Given the description of an element on the screen output the (x, y) to click on. 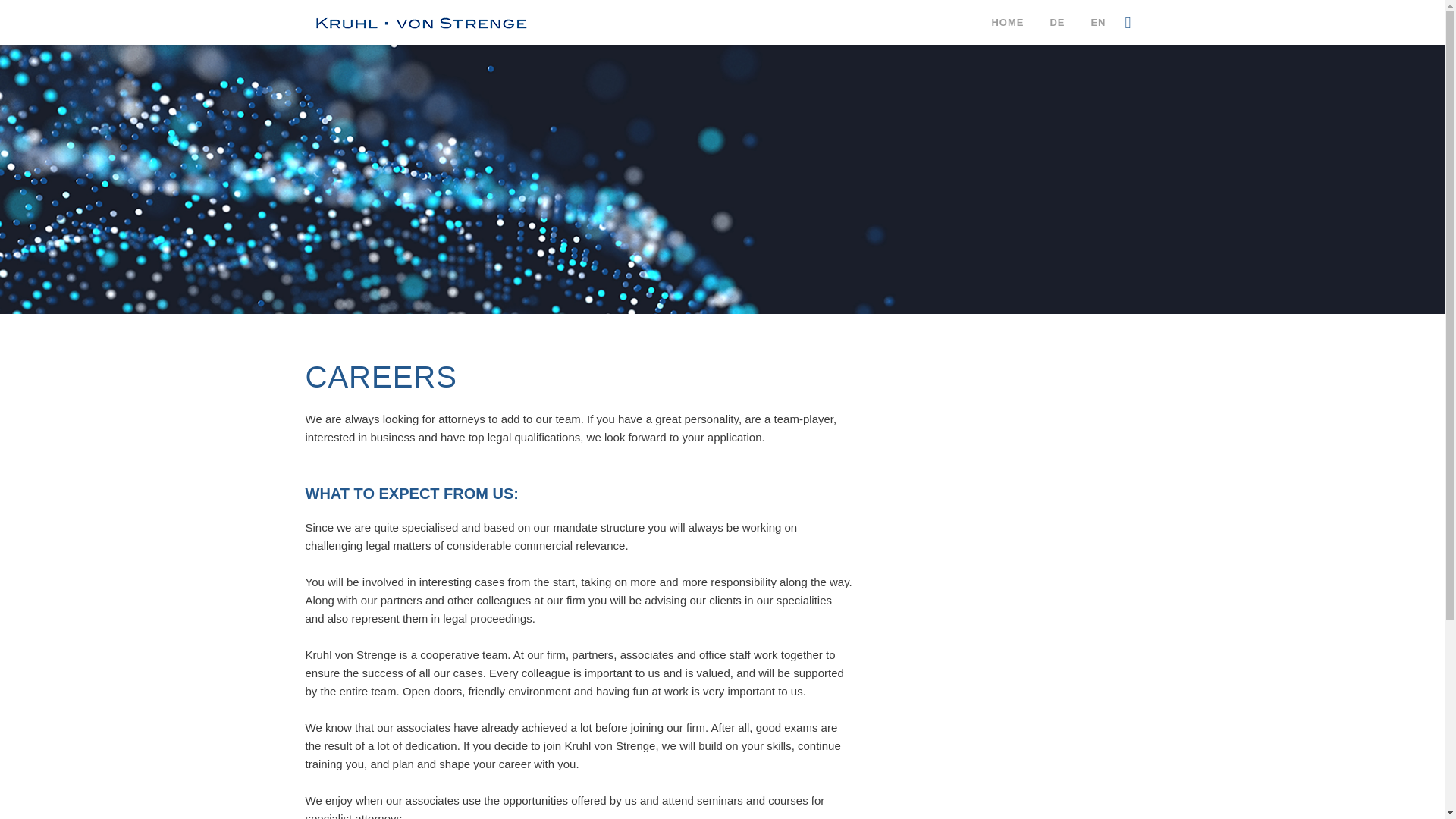
HOME (1007, 22)
EN (1097, 22)
DE (1056, 22)
